Given the description of an element on the screen output the (x, y) to click on. 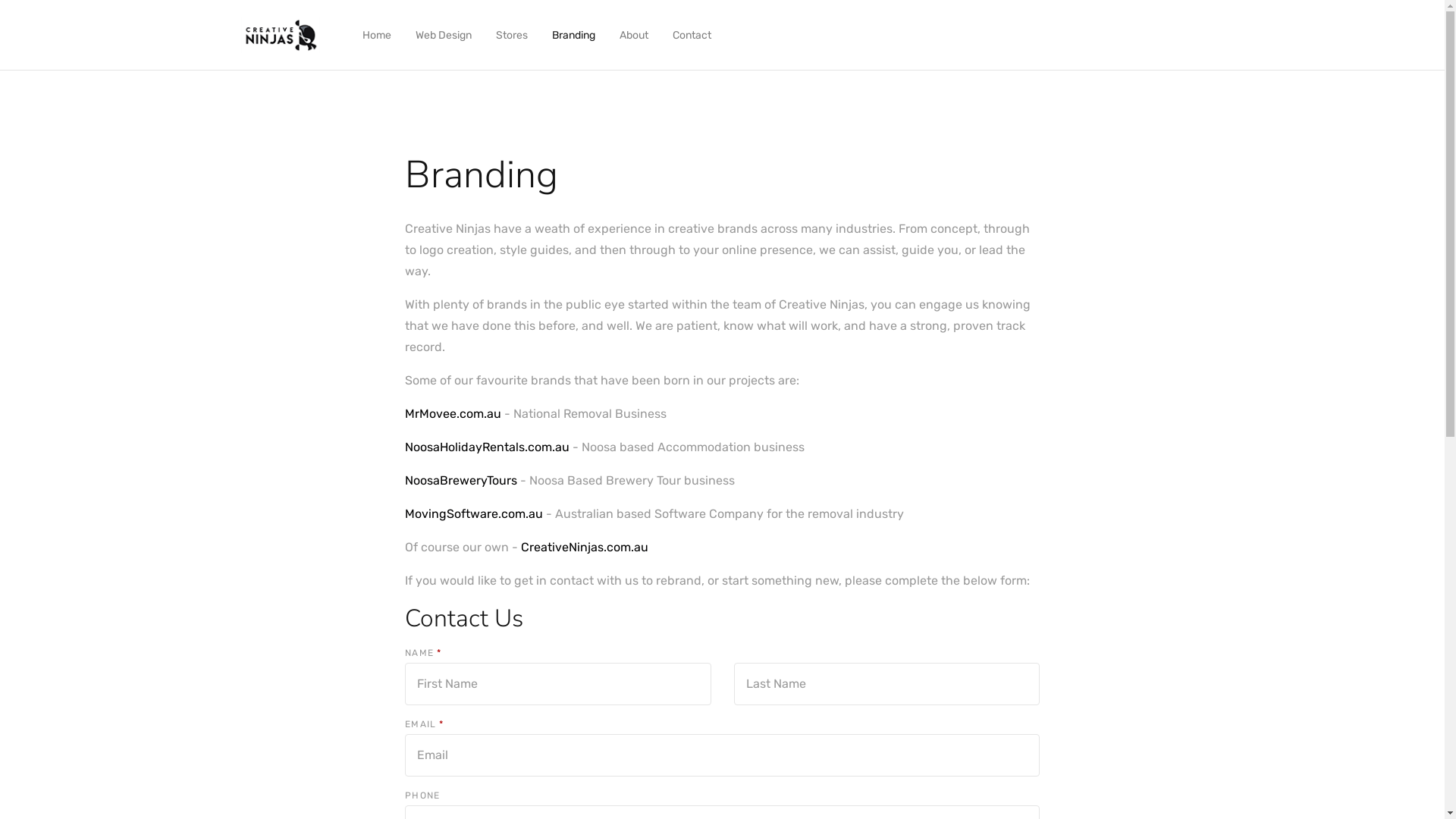
MrMovee.com.au Element type: text (452, 413)
CreativeNinjas.com.au Element type: text (584, 546)
Home Element type: text (376, 35)
Branding Element type: text (573, 35)
Stores Element type: text (511, 35)
Web Design Element type: text (443, 35)
MovingSoftware.com.au Element type: text (473, 513)
Contact Element type: text (691, 35)
NoosaBreweryTours Element type: text (462, 480)
NoosaHolidayRentals.com.au Element type: text (486, 446)
About Element type: text (633, 35)
